Given the description of an element on the screen output the (x, y) to click on. 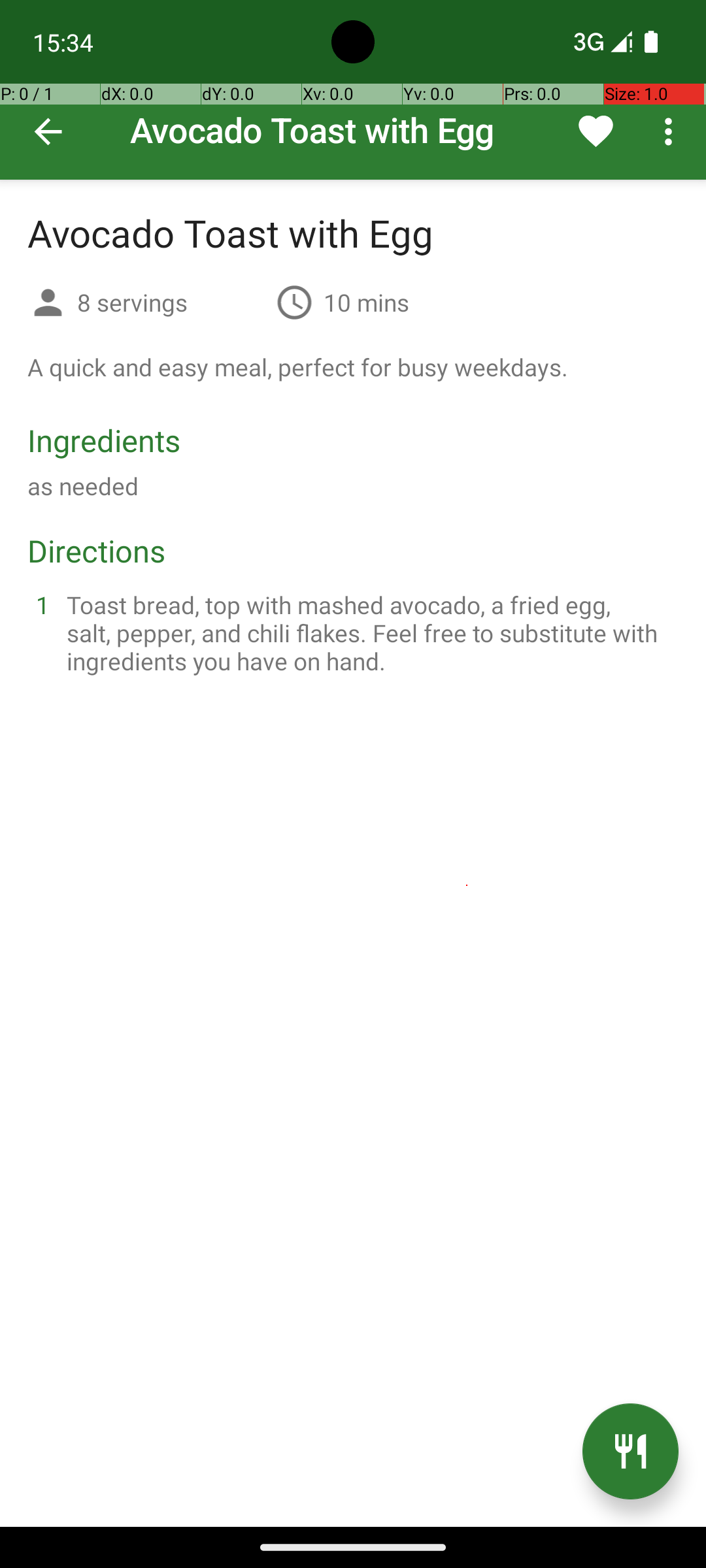
Avocado Toast with Egg Element type: android.widget.FrameLayout (353, 89)
Cook Element type: android.widget.ImageButton (630, 1451)
Recipe photo Element type: android.widget.ImageView (353, 89)
Remove from favorites Element type: android.widget.Button (595, 131)
Servings Element type: android.widget.ImageView (47, 303)
8 servings Element type: android.widget.TextView (170, 301)
10 mins Element type: android.widget.TextView (366, 301)
A quick and easy meal, perfect for busy weekdays. Element type: android.widget.TextView (297, 366)
Ingredients Element type: android.widget.TextView (103, 439)
as needed Element type: android.widget.TextView (82, 485)
Directions Element type: android.widget.TextView (96, 550)
Toast bread, top with mashed avocado, a fried egg, salt, pepper, and chili flakes. Feel free to substitute with ingredients you have on hand. Element type: android.widget.TextView (368, 632)
